Given the description of an element on the screen output the (x, y) to click on. 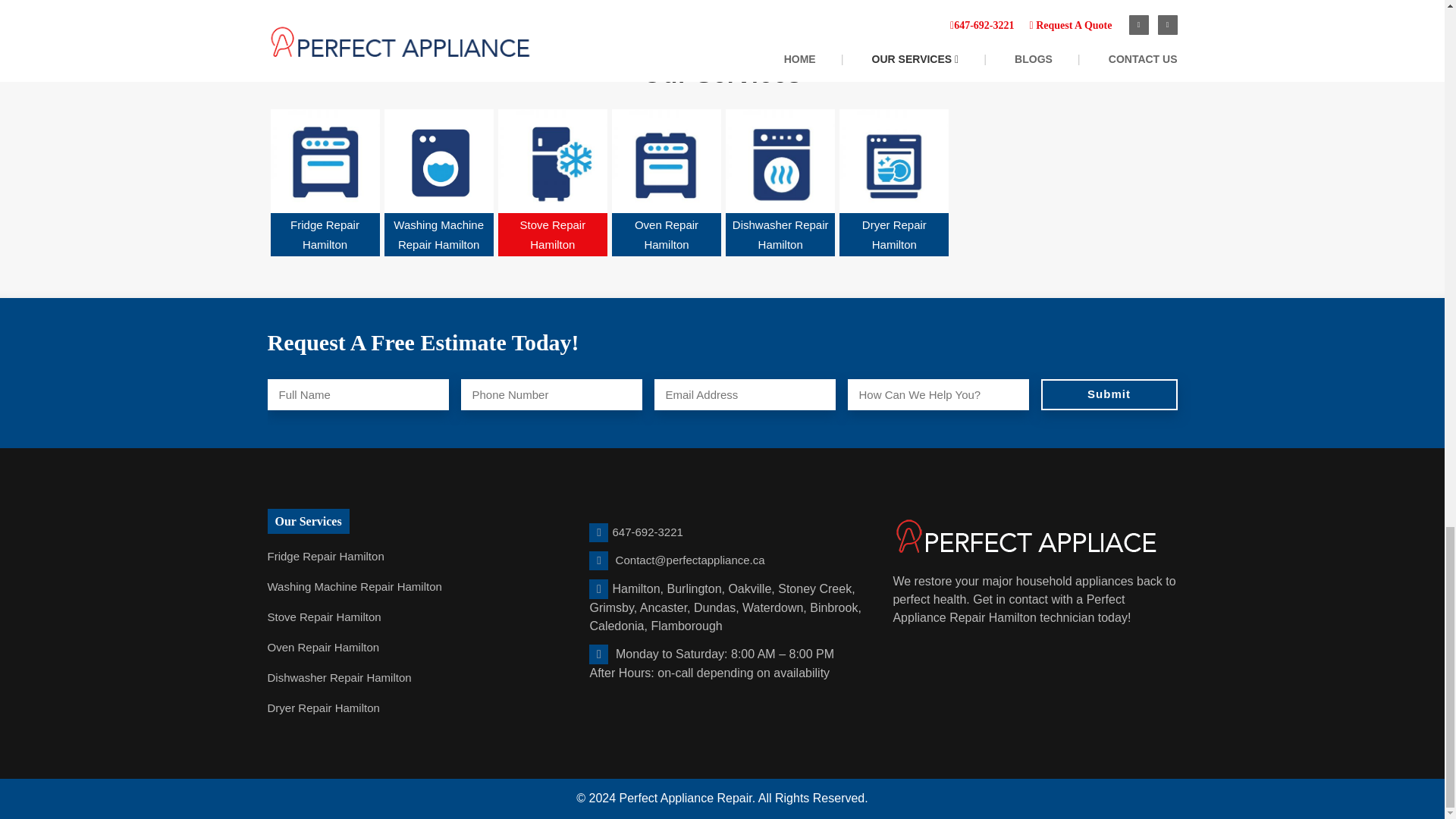
Submit (1108, 394)
Fridge Repair Hamilton (325, 556)
Washing Machine Repair Hamilton (353, 586)
Submit (1108, 394)
